Given the description of an element on the screen output the (x, y) to click on. 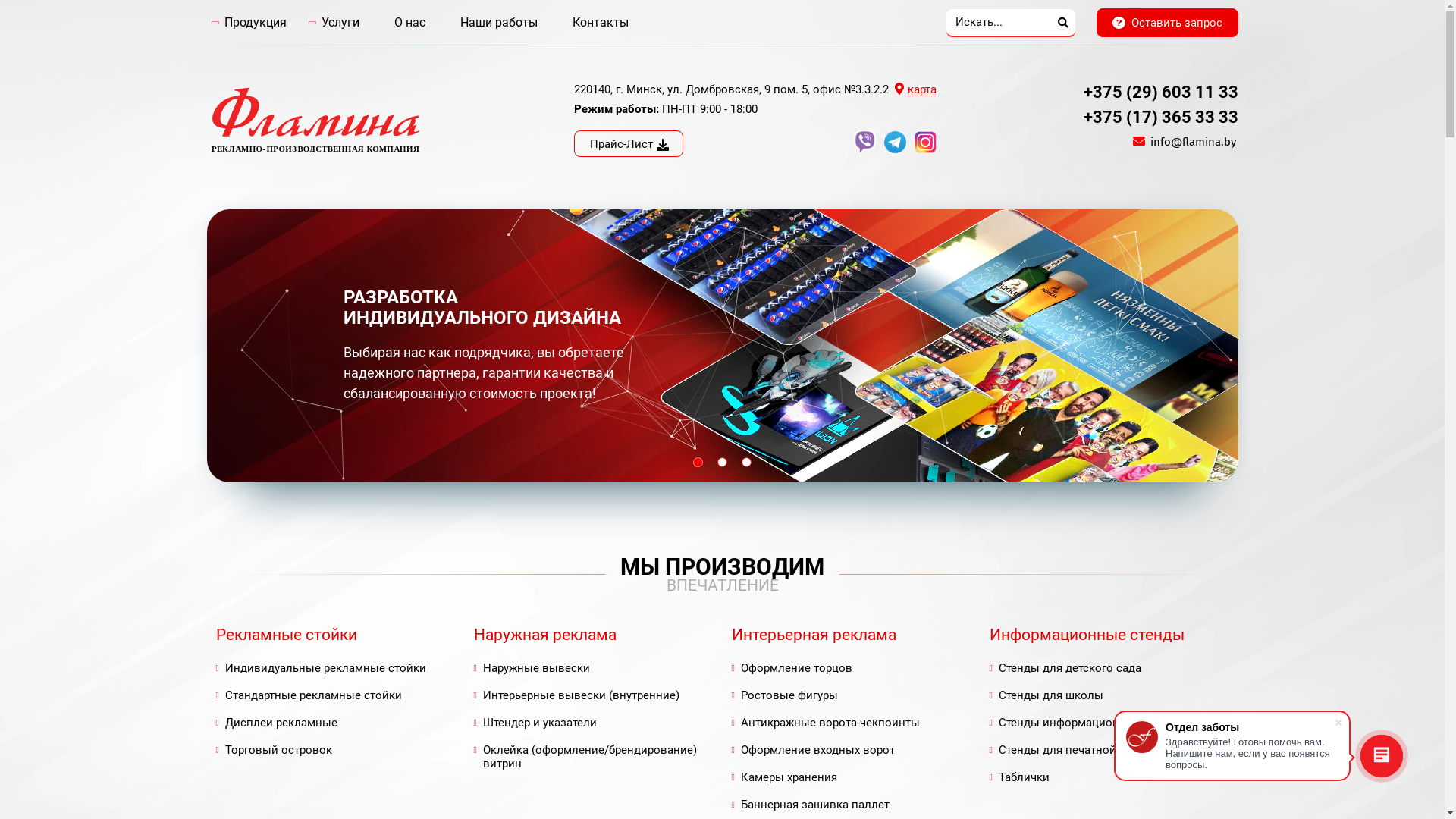
+375 (29) 603 11 33 Element type: text (1159, 91)
2 Element type: text (721, 462)
1 Element type: text (697, 462)
info@flamina.by Element type: text (1193, 141)
+375 (17) 365 33 33 Element type: text (1159, 116)
Viber Element type: hover (867, 149)
3 Element type: text (746, 462)
